Given the description of an element on the screen output the (x, y) to click on. 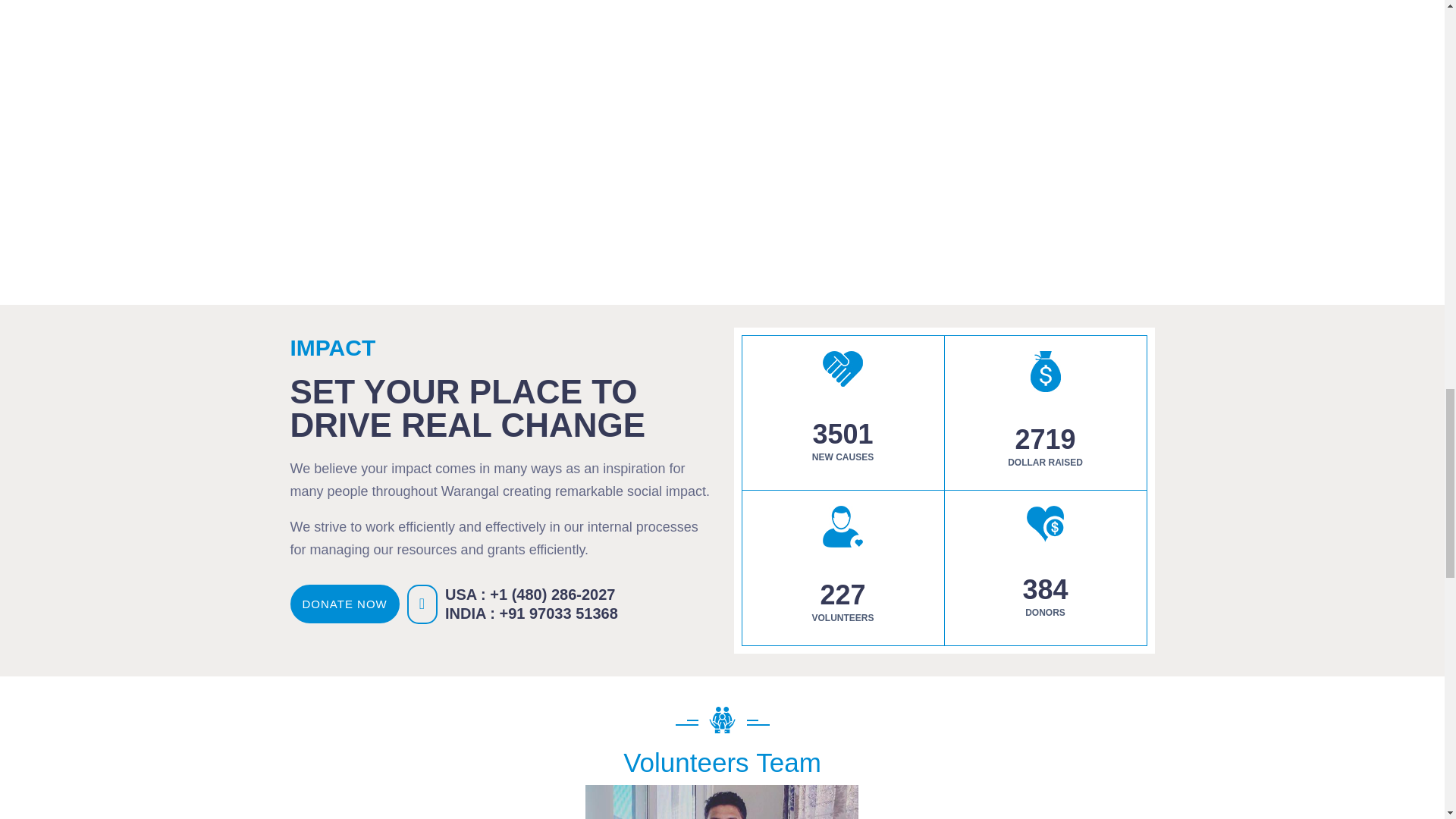
DONATE NOW (343, 603)
